Given the description of an element on the screen output the (x, y) to click on. 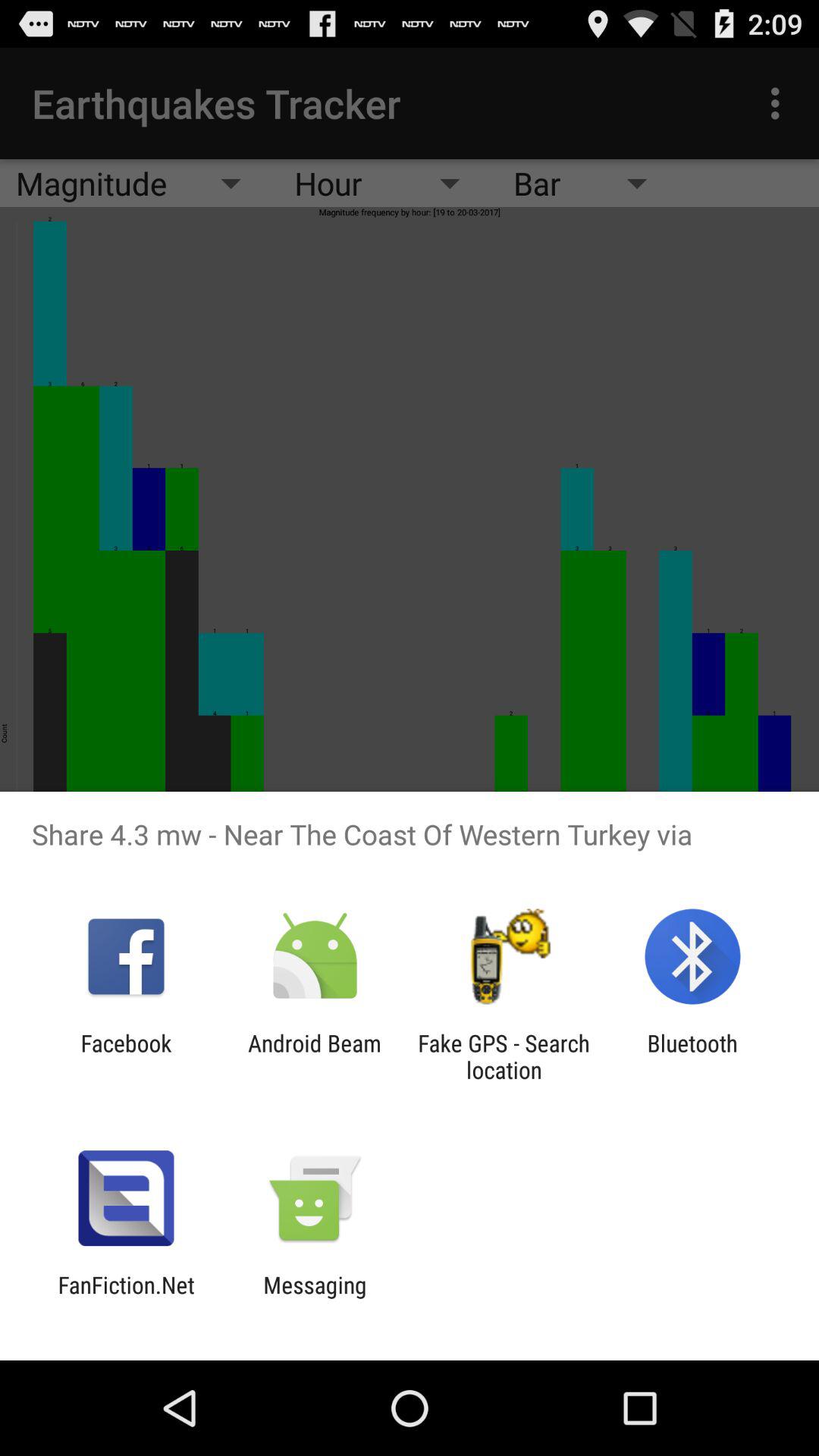
flip to fanfiction.net (126, 1298)
